Given the description of an element on the screen output the (x, y) to click on. 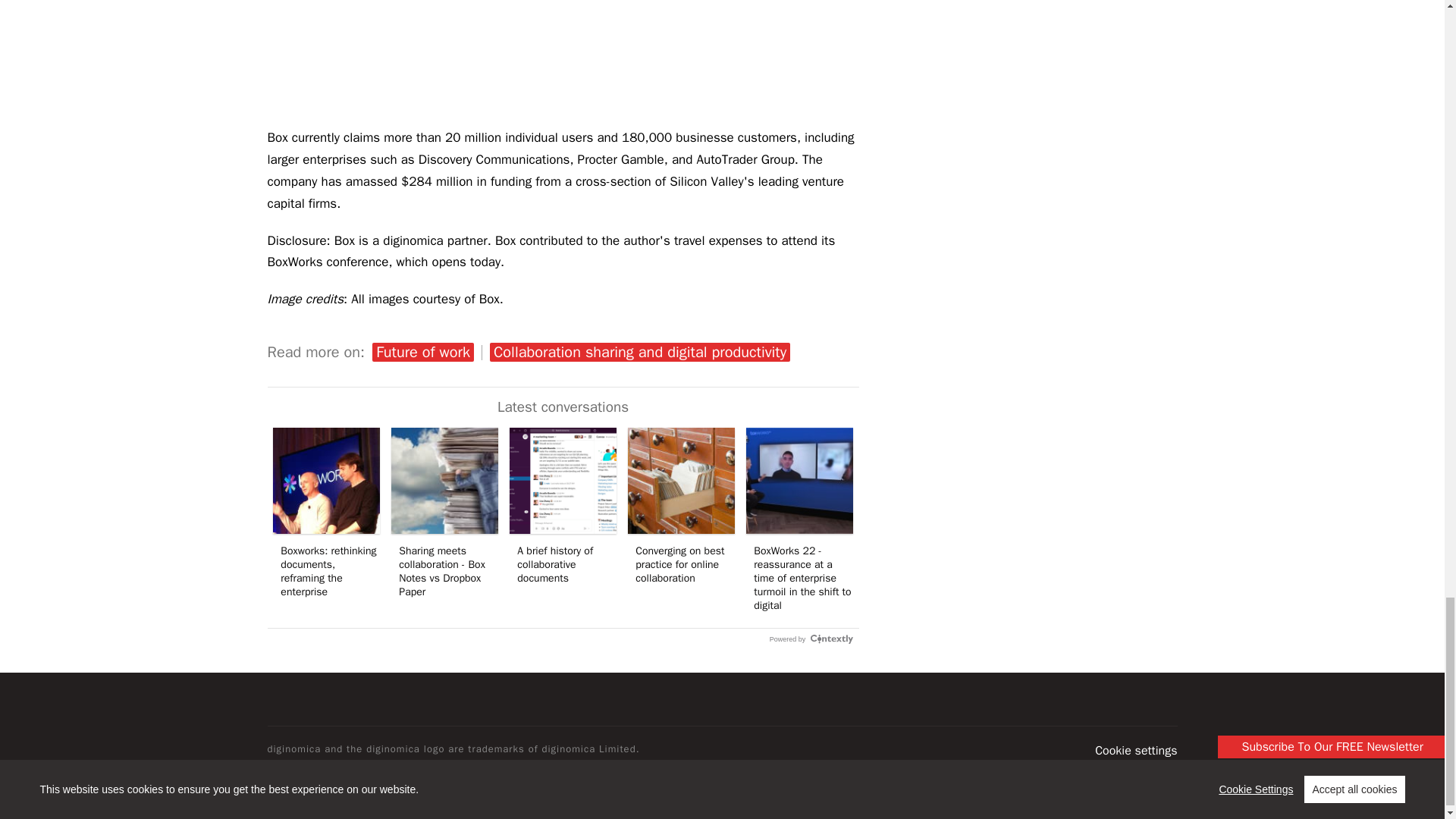
Check out developers of diginomica.com. (1135, 768)
